Given the description of an element on the screen output the (x, y) to click on. 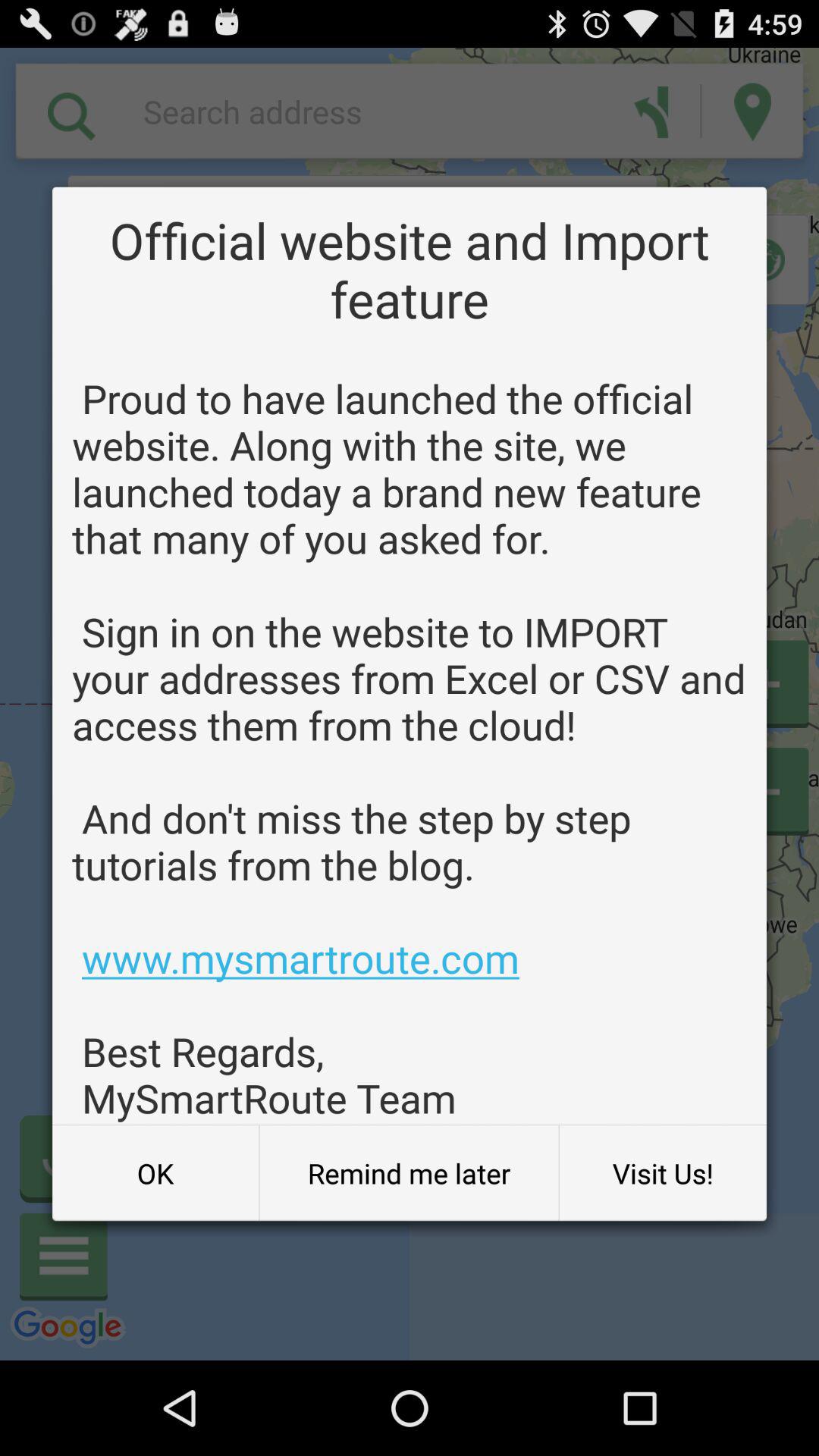
open the icon at the bottom (408, 1173)
